Given the description of an element on the screen output the (x, y) to click on. 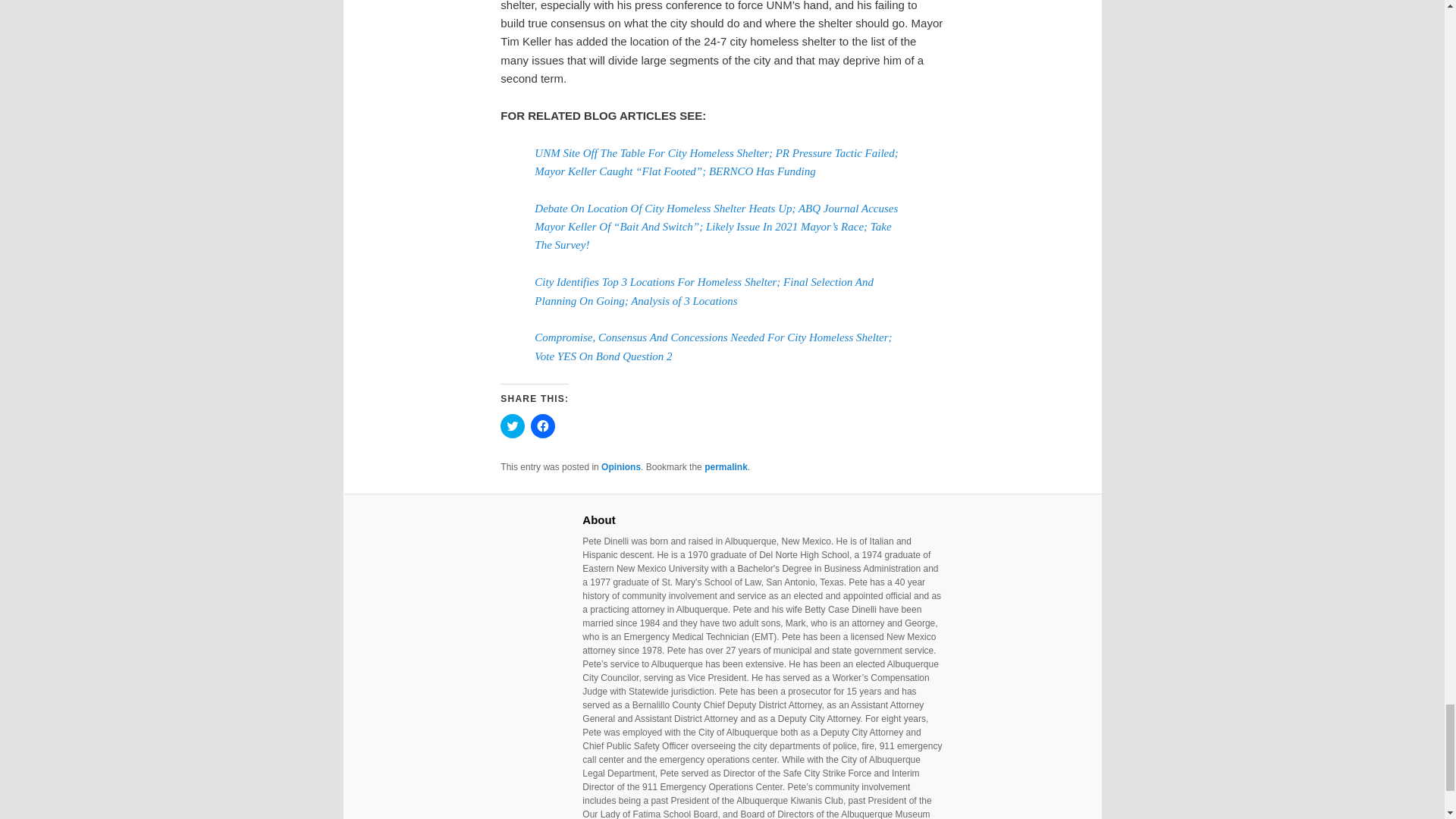
Click to share on Facebook (542, 426)
Opinions (620, 466)
Click to share on Twitter (512, 426)
permalink (726, 466)
